Given the description of an element on the screen output the (x, y) to click on. 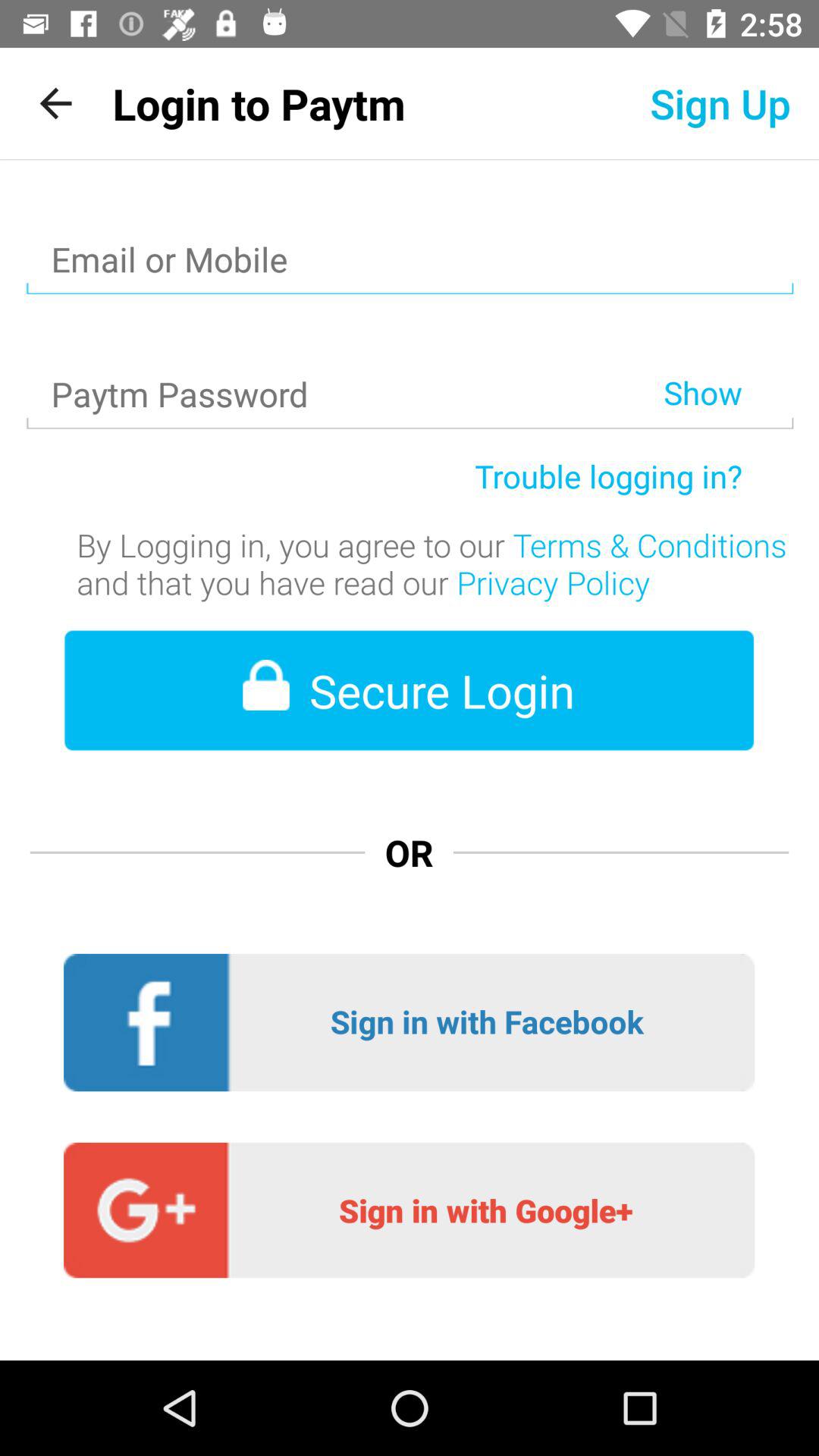
jump until show (728, 354)
